Given the description of an element on the screen output the (x, y) to click on. 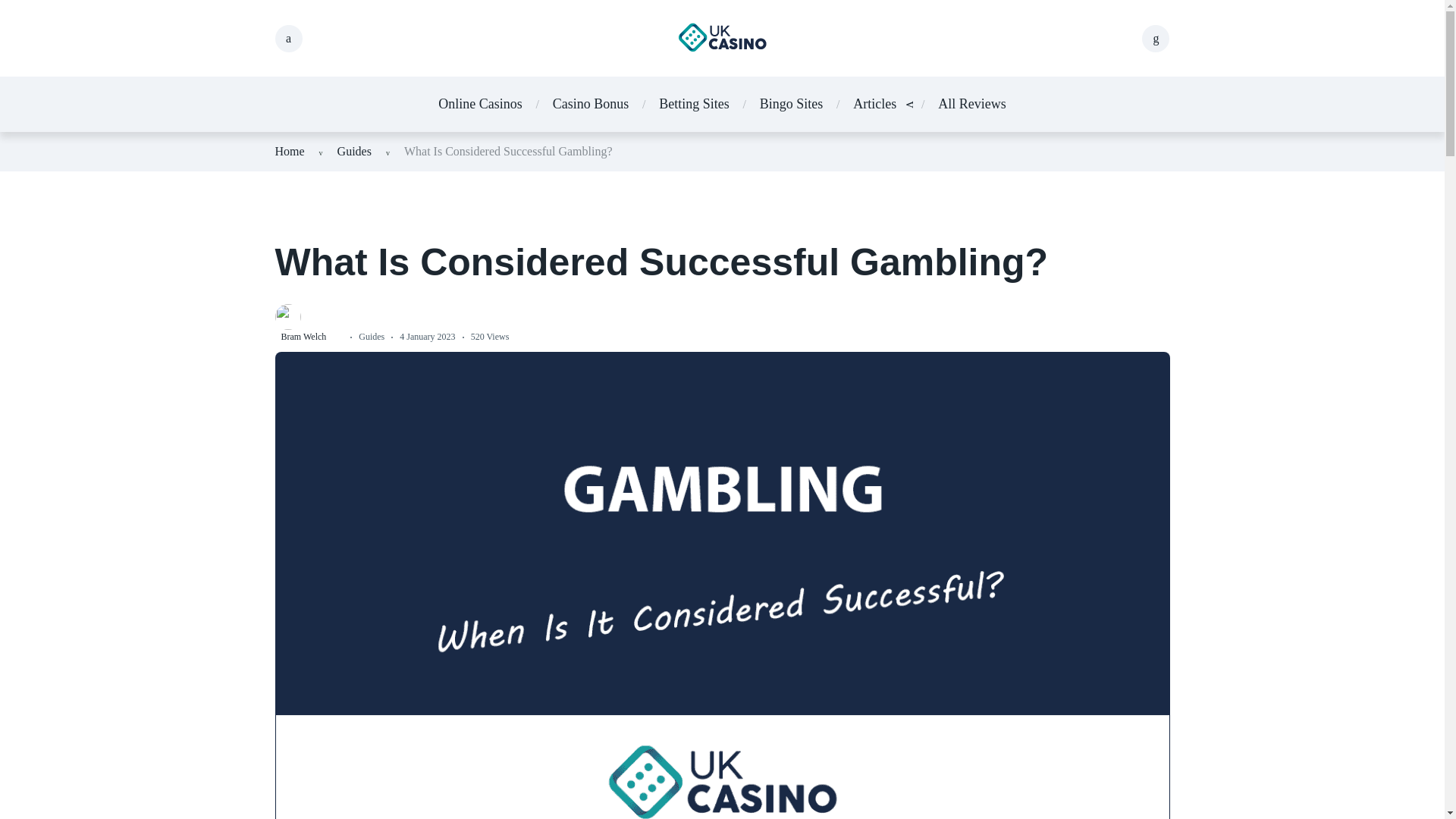
Home (289, 151)
What Is Considered Successful Gambling? (508, 151)
Betting Sites (694, 104)
Guides (371, 336)
Bingo Sites (792, 104)
Casino Bonus (590, 104)
Guides (354, 151)
Online Casinos (480, 104)
Home (289, 151)
Guides (354, 151)
